Given the description of an element on the screen output the (x, y) to click on. 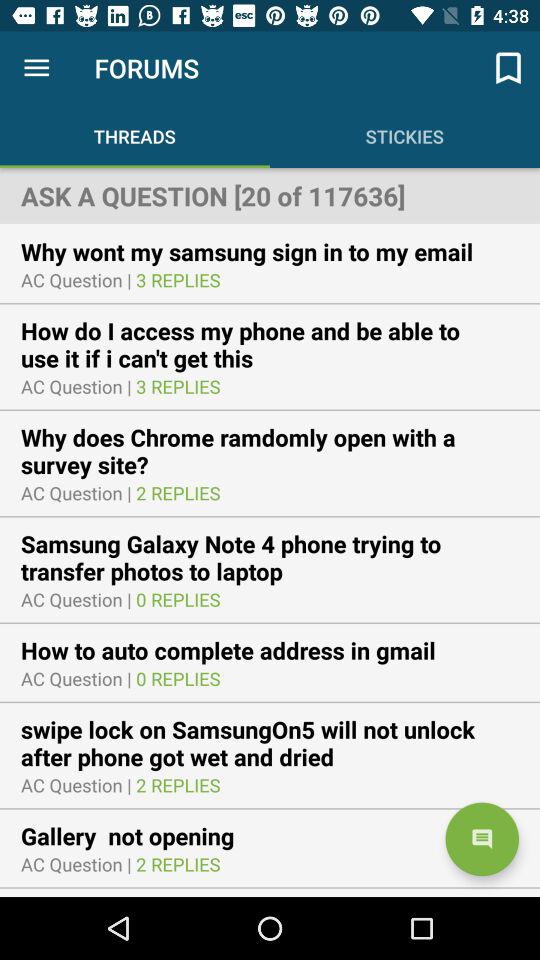
click item below ac question | (270, 450)
